Given the description of an element on the screen output the (x, y) to click on. 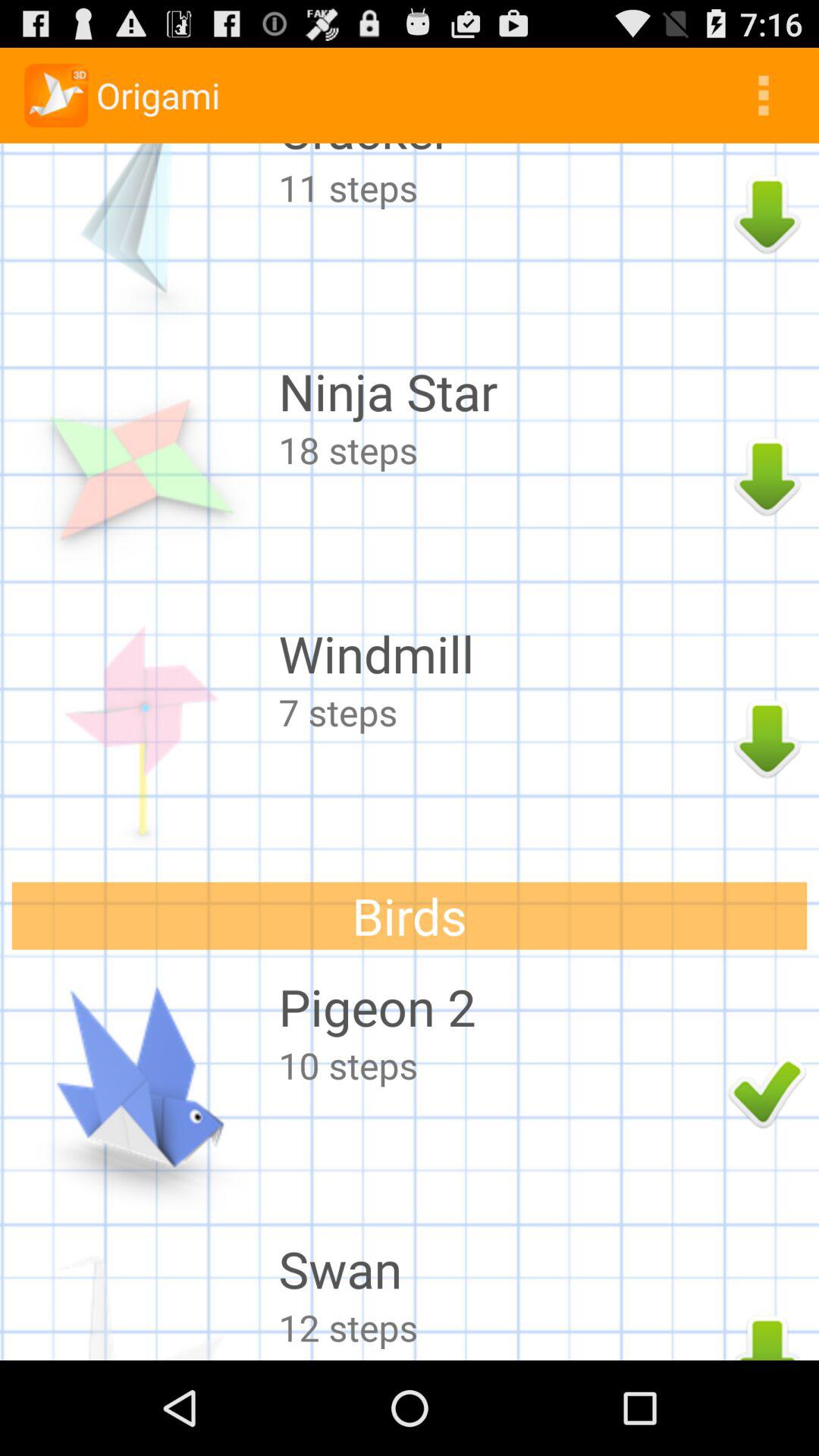
choose the cracker icon (498, 153)
